Given the description of an element on the screen output the (x, y) to click on. 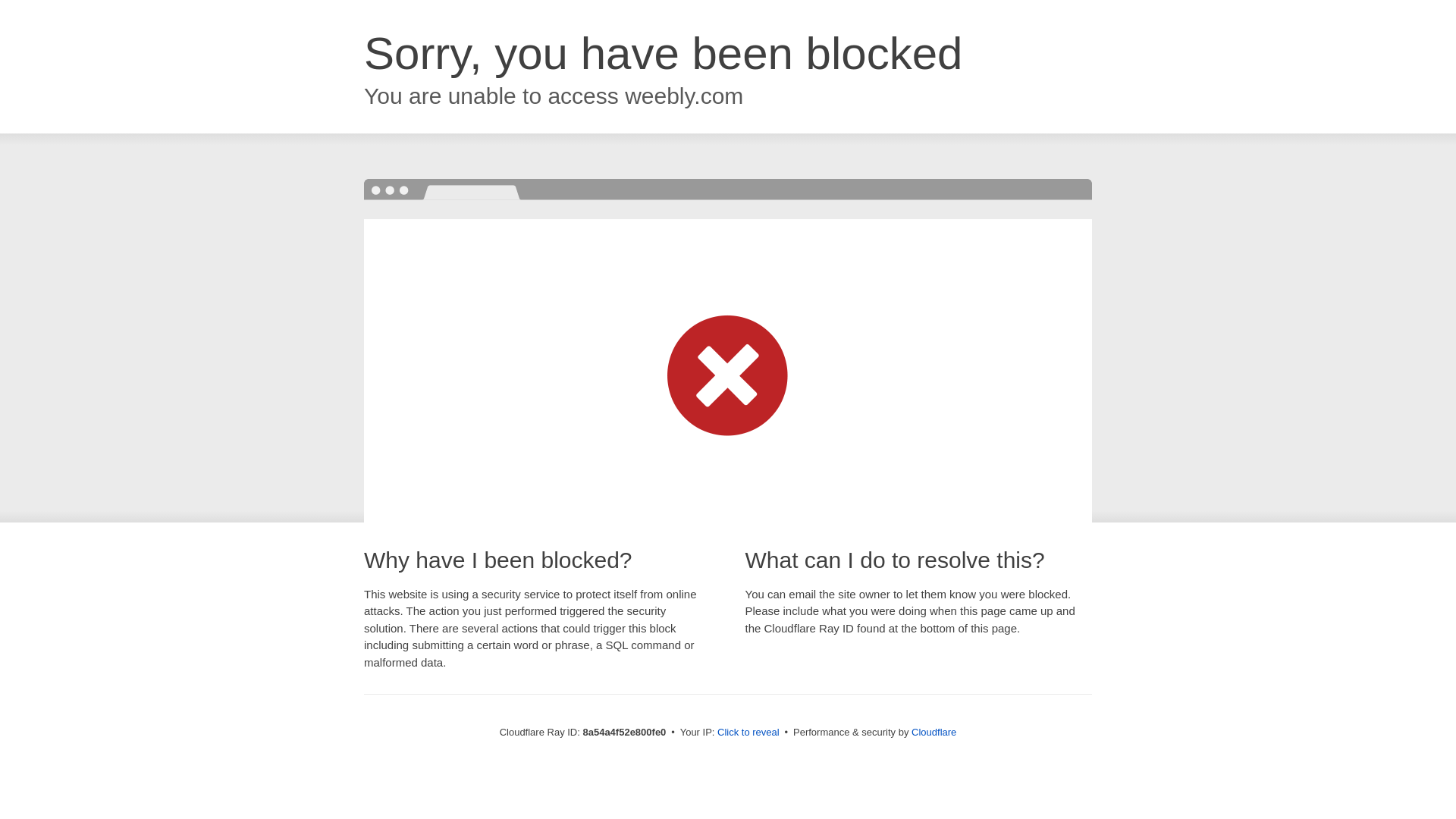
Click to reveal (747, 732)
Cloudflare (933, 731)
